Given the description of an element on the screen output the (x, y) to click on. 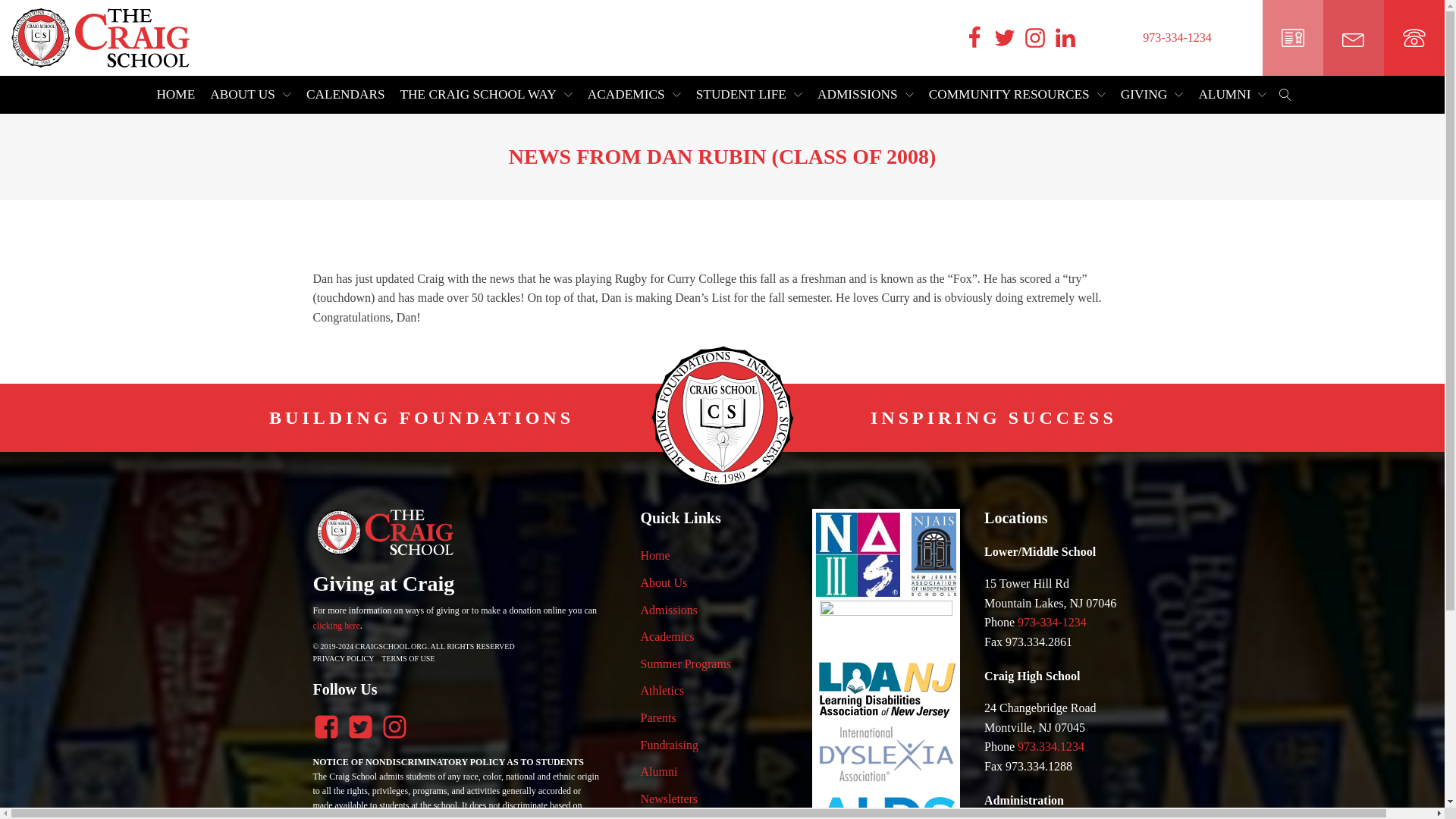
HOME (175, 94)
THE CRAIG SCHOOL WAY (486, 94)
ABOUT US (250, 94)
ACADEMICS (634, 94)
CALENDARS (345, 94)
973-334-1234 (1177, 37)
